Given the description of an element on the screen output the (x, y) to click on. 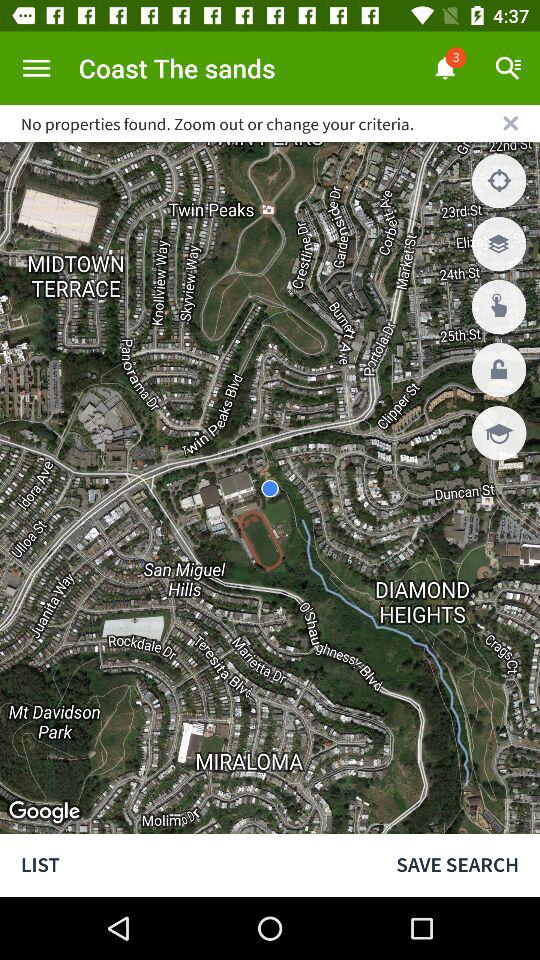
select the second button which is below x on the right side of the page (498, 243)
click on the lock symbol (498, 369)
click the search icon above cross mark (508, 68)
click on the last icon on the right row (498, 432)
click on the icon which is above the lock icon (498, 307)
click on the location icon to the right of the page (498, 180)
